Given the description of an element on the screen output the (x, y) to click on. 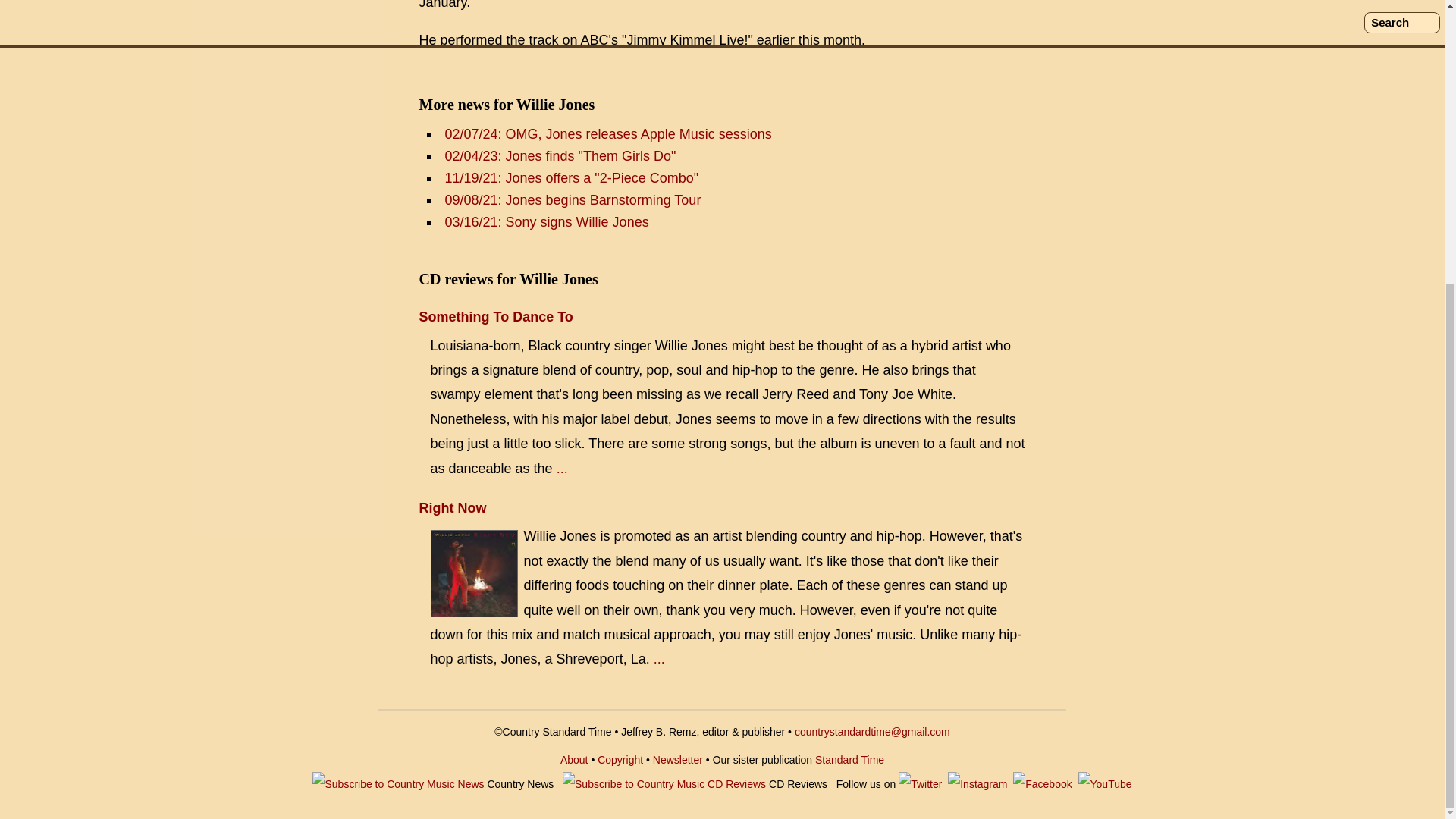
OMG, Jones releases Apple Music sessions (607, 133)
Twitter (920, 784)
About (574, 759)
Sony signs Willie Jones (545, 222)
Instagram (977, 784)
CD review - Right Now (474, 573)
Jones begins Barnstorming Tour (572, 200)
Facebook (1042, 784)
Newsletter (677, 759)
Standard Time (849, 759)
